Given the description of an element on the screen output the (x, y) to click on. 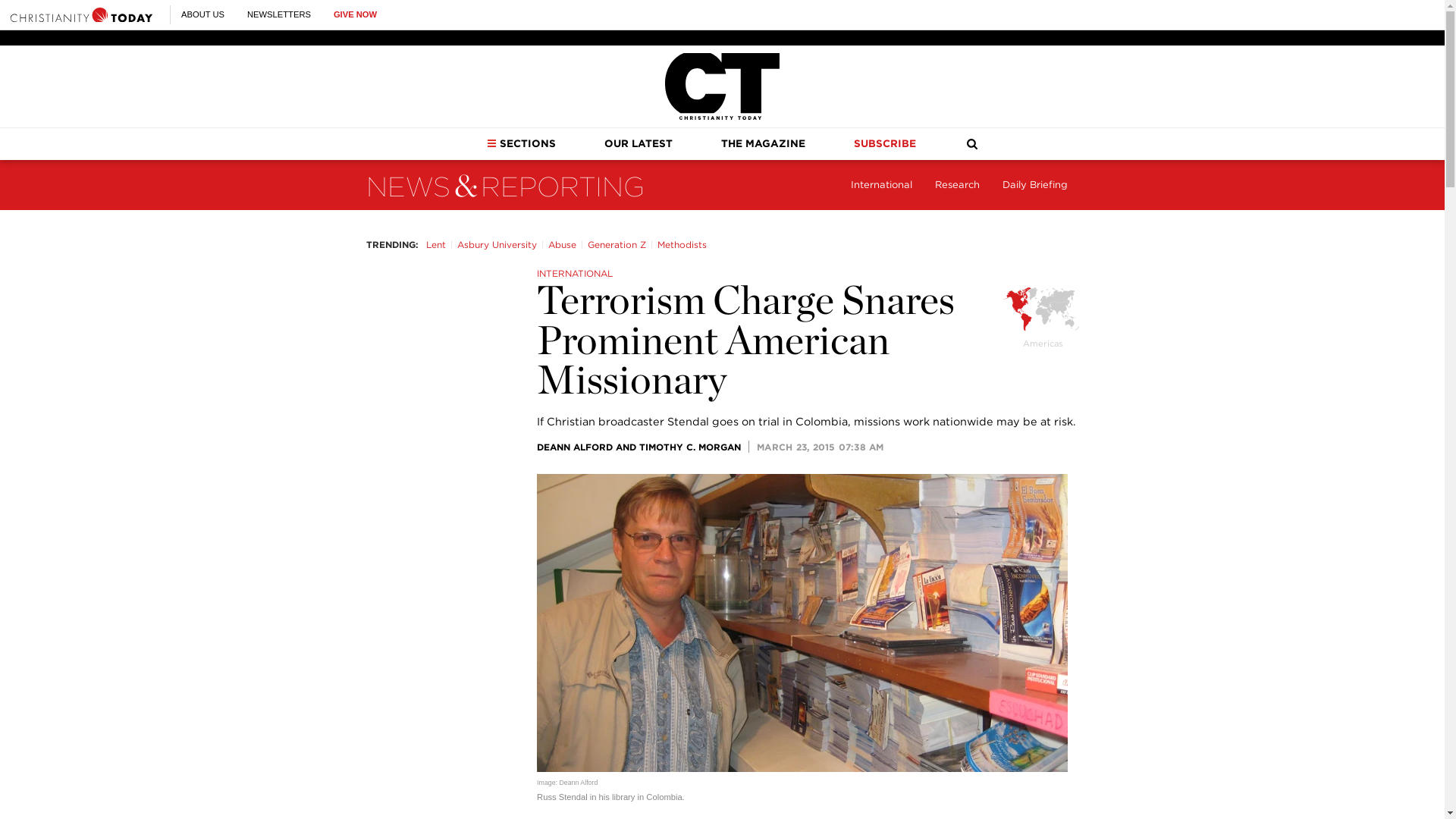
SECTIONS (521, 143)
Christianity Today (81, 14)
Sections Dropdown (491, 143)
ABOUT US (202, 14)
NEWSLETTERS (278, 14)
GIVE NOW (355, 14)
Christianity Today (721, 86)
